Given the description of an element on the screen output the (x, y) to click on. 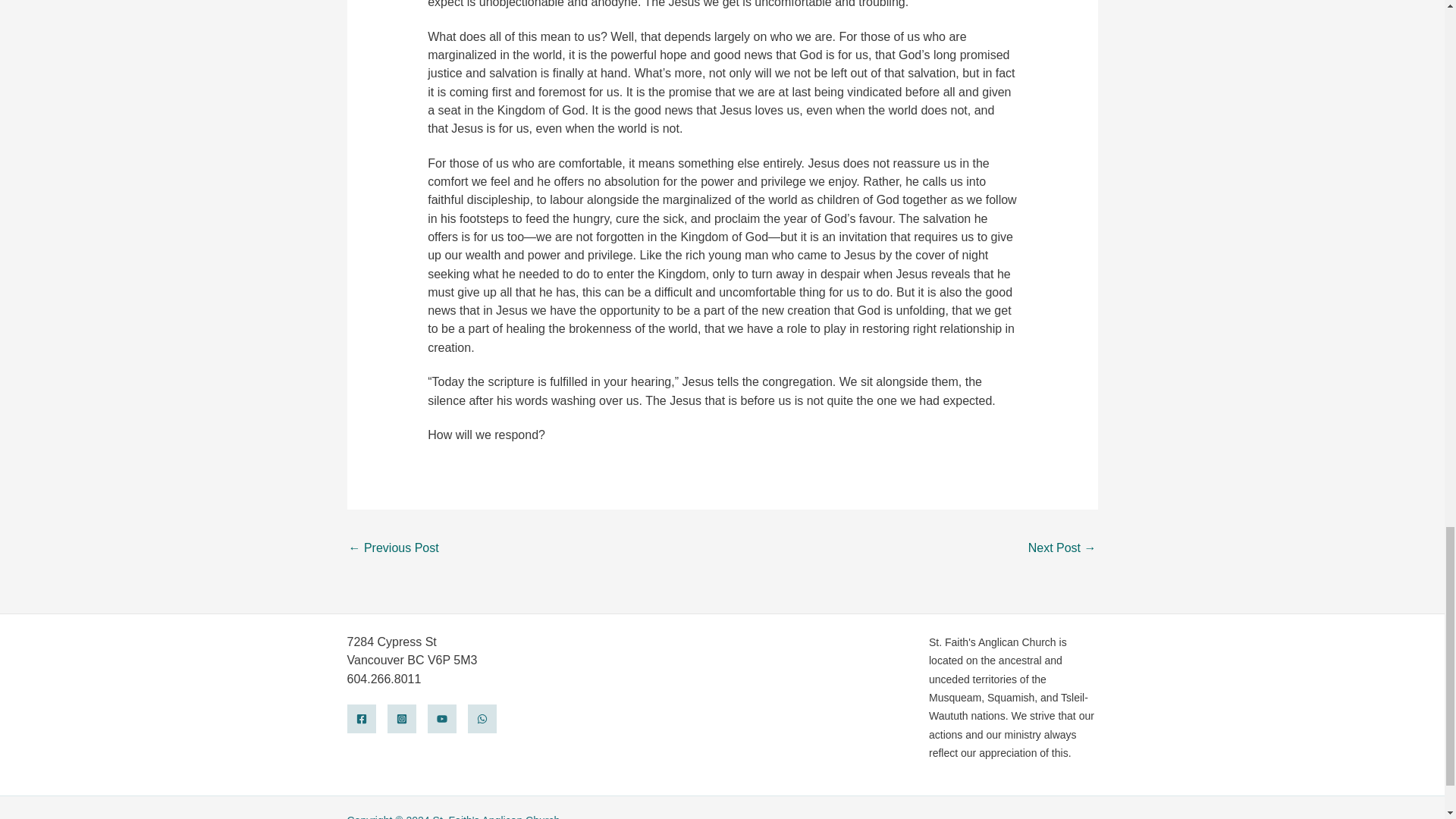
Called to Abundant Life (394, 549)
Go Away From Me, Lord (1061, 549)
